Given the description of an element on the screen output the (x, y) to click on. 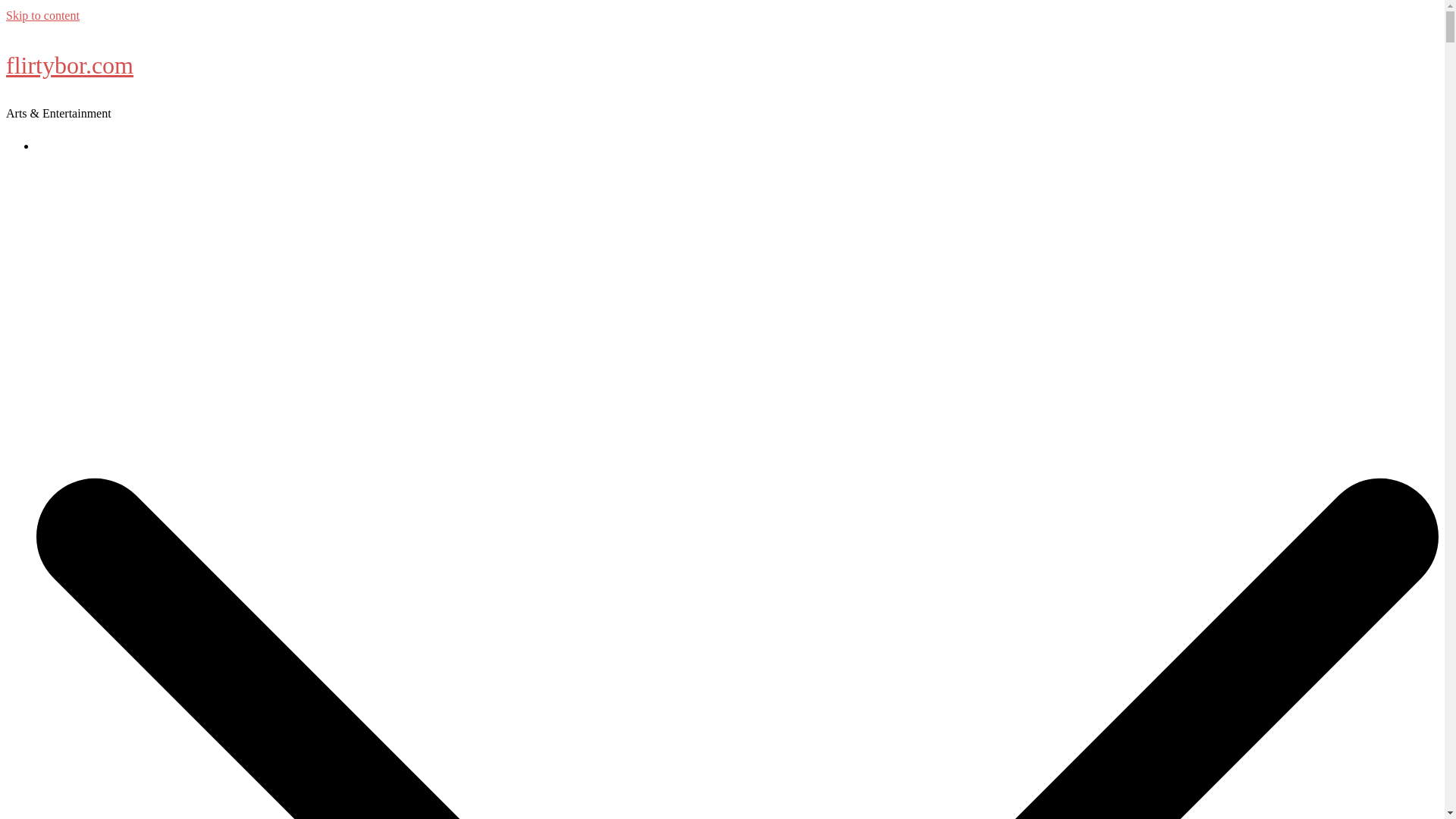
Company (59, 145)
Skip to content (42, 15)
flirtybor.com (69, 64)
